Given the description of an element on the screen output the (x, y) to click on. 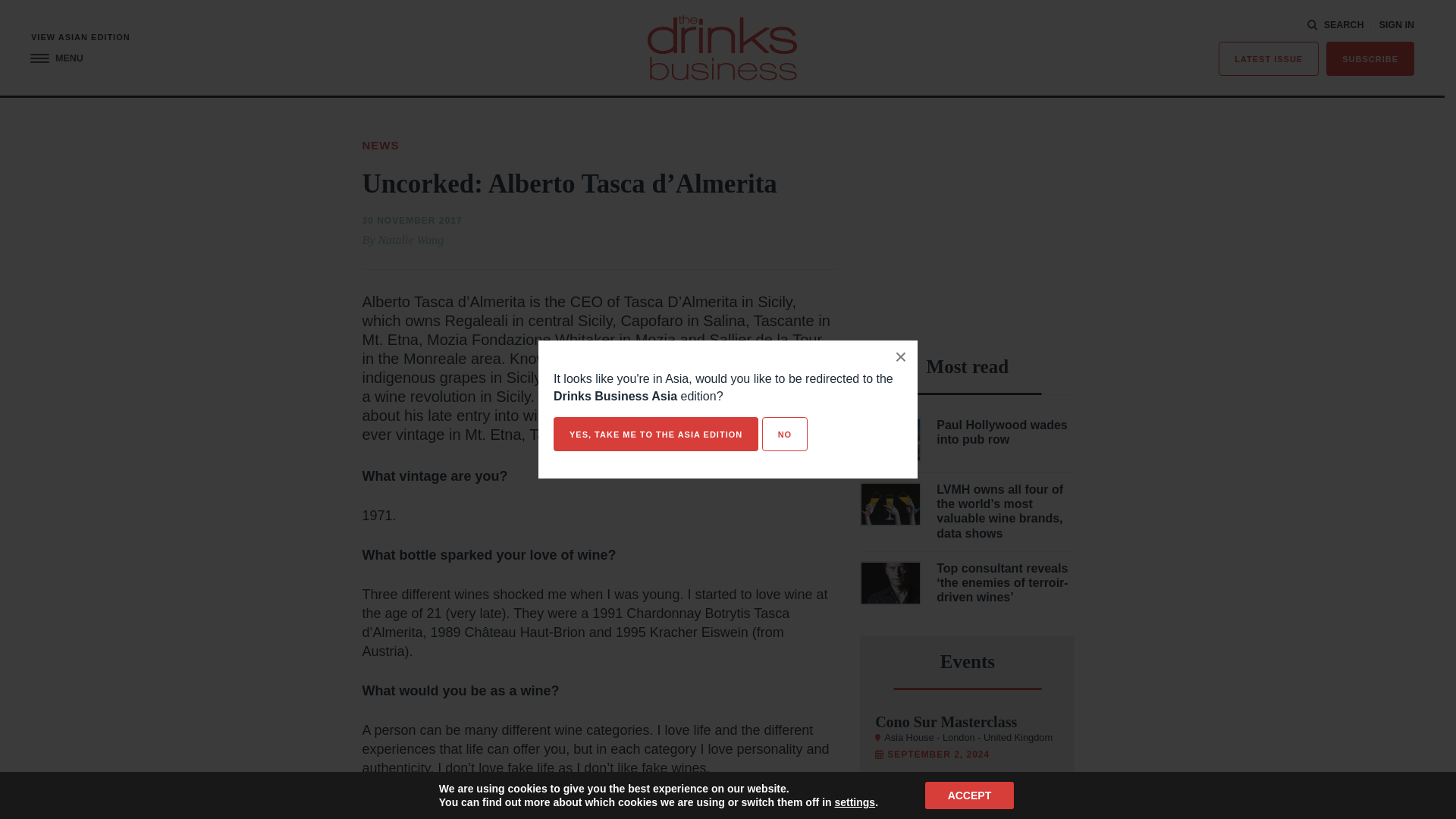
NO (784, 433)
3rd party ad content (967, 230)
The Drinks Business (721, 47)
SIGN IN (1395, 25)
SUBSCRIBE (1369, 58)
VIEW ASIAN EDITION (80, 37)
YES, TAKE ME TO THE ASIA EDITION (655, 433)
LATEST ISSUE (1268, 58)
